Given the description of an element on the screen output the (x, y) to click on. 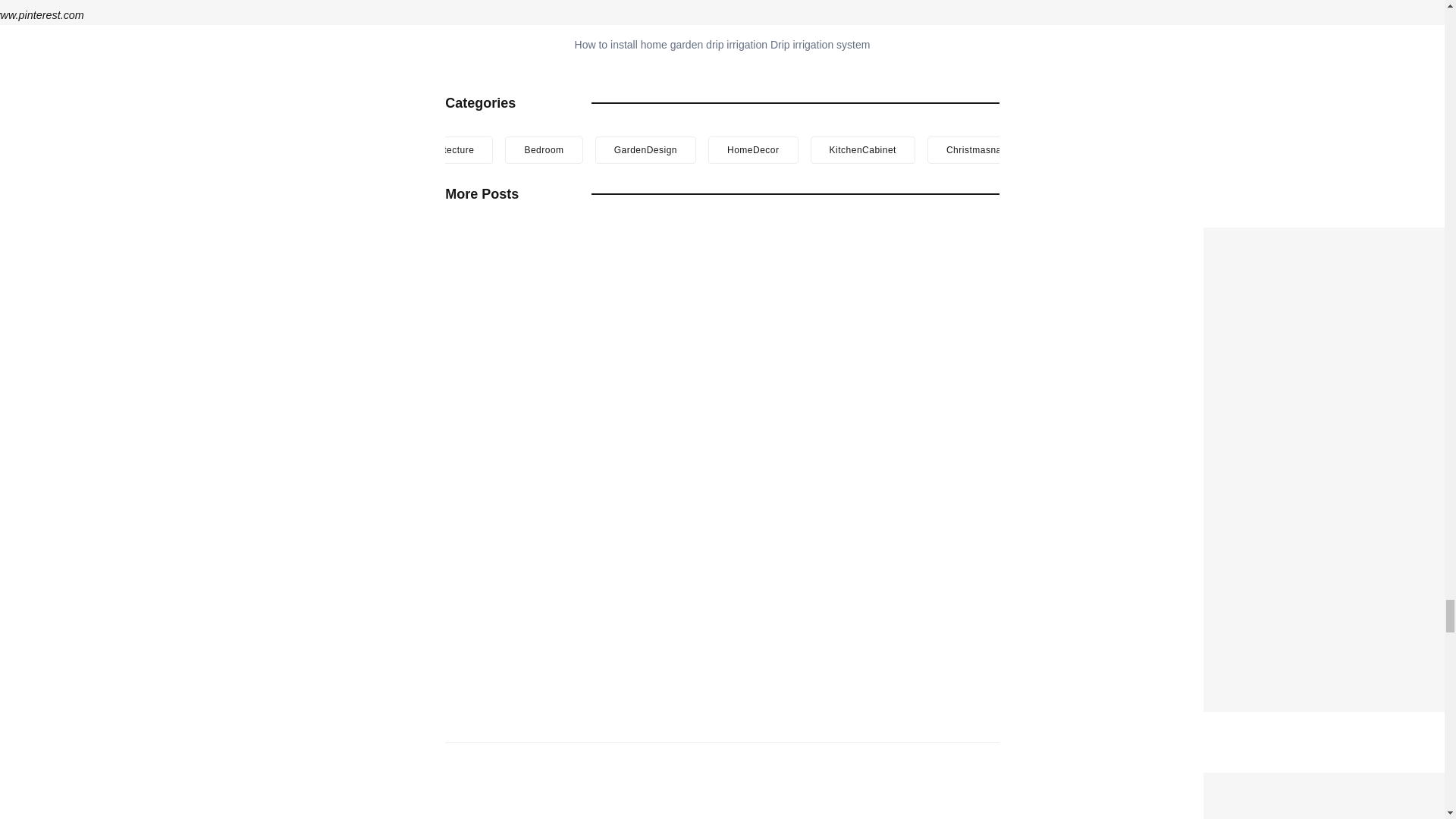
Architecture (447, 149)
Christmasnails (978, 149)
KitchenCabinet (862, 149)
GardenDesign (645, 149)
Types Of Long Leaf Plants (1289, 236)
How To Plant Flowers From Lowes (1316, 782)
HomeDecor (752, 149)
Bedroom (543, 149)
